Given the description of an element on the screen output the (x, y) to click on. 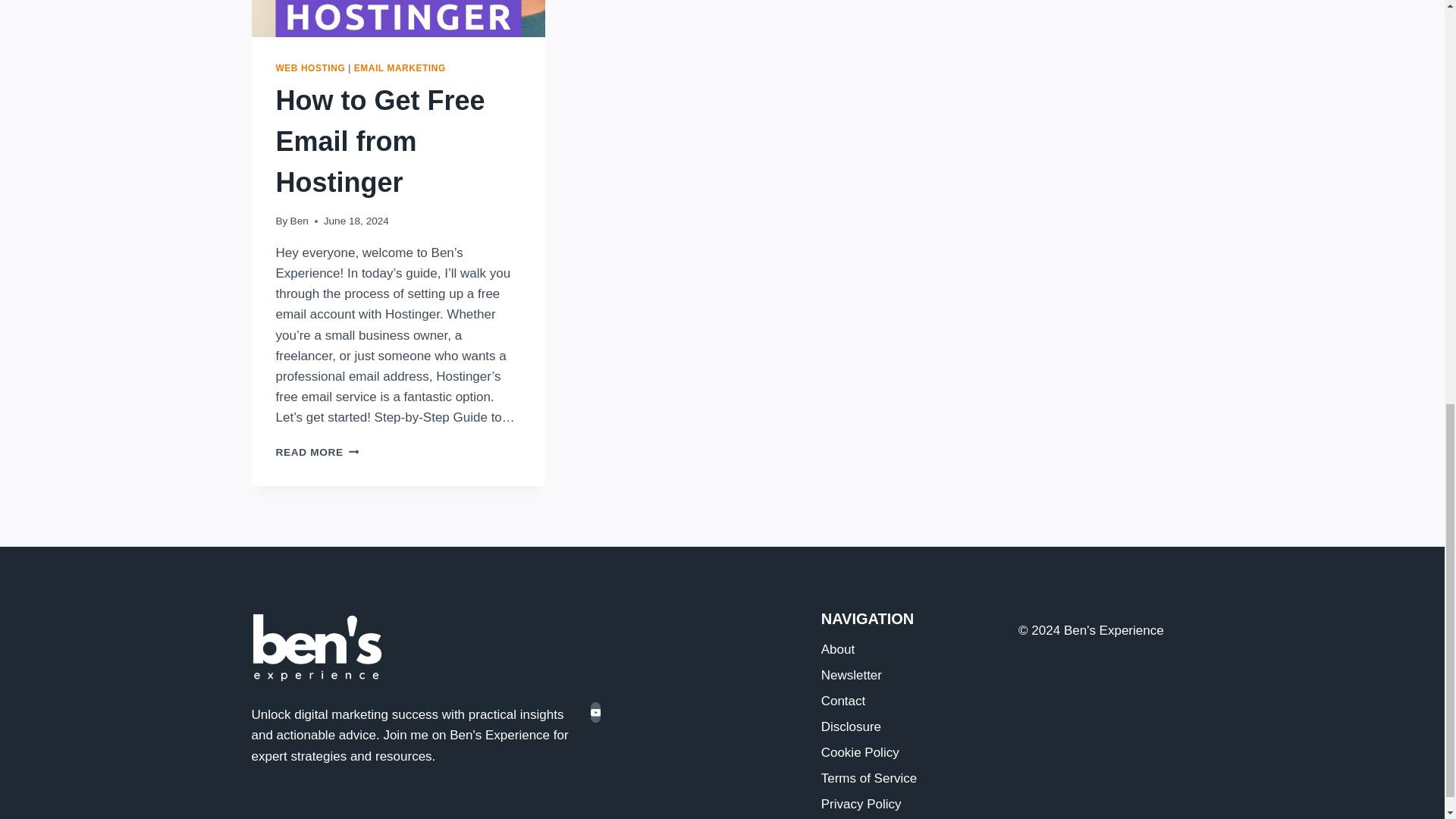
Privacy Policy (908, 805)
Newsletter (317, 451)
Terms of Service (908, 676)
Cookie Policy (908, 779)
Contact (908, 753)
WEB HOSTING (908, 701)
Disclosure (311, 68)
Ben (908, 727)
EMAIL MARKETING (298, 220)
How to Get Free Email from Hostinger (399, 68)
About (380, 141)
